Given the description of an element on the screen output the (x, y) to click on. 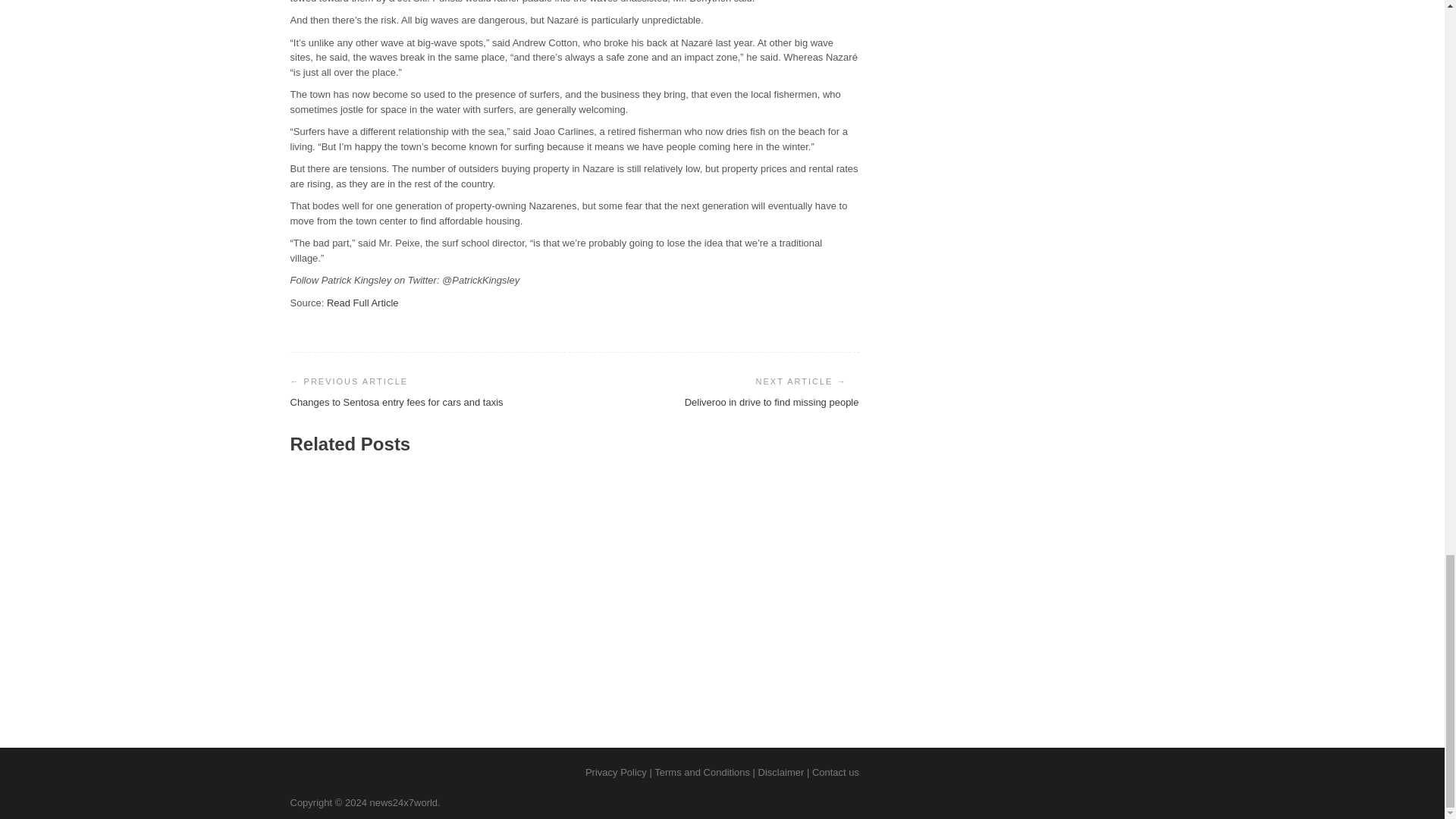
Horror As Boy, 4, Knifed To Death In Home As Woman Arrested (767, 626)
Mediabest (710, 657)
news24x7world (403, 801)
Mediabest (518, 657)
Mediabest (323, 657)
Deliveroo in drive to find missing people (771, 401)
Changes to Sentosa entry fees for cars and taxis (395, 401)
Read Full Article (362, 302)
